Given the description of an element on the screen output the (x, y) to click on. 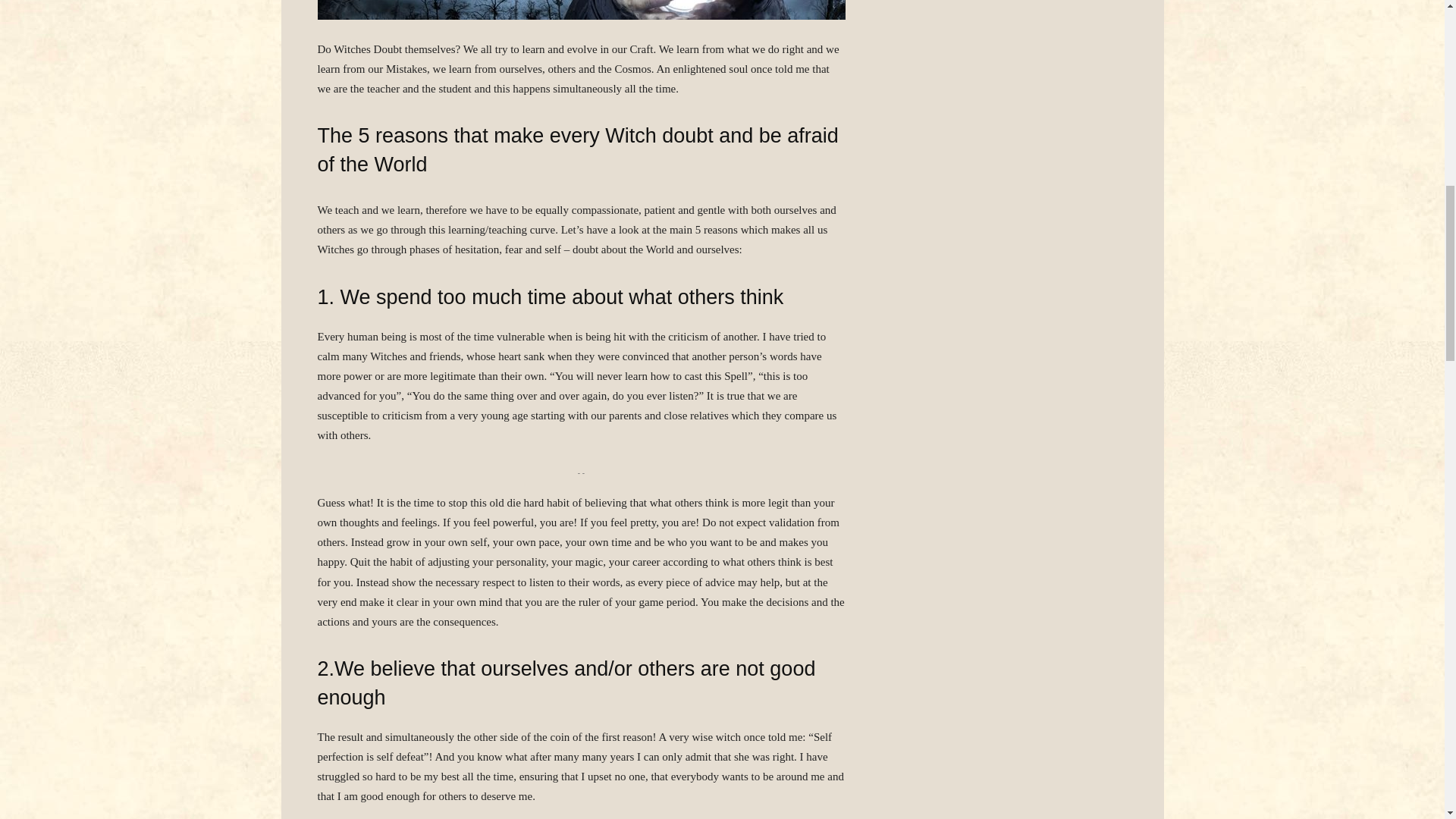
5 reasons that make every Witch doubt (580, 9)
